Given the description of an element on the screen output the (x, y) to click on. 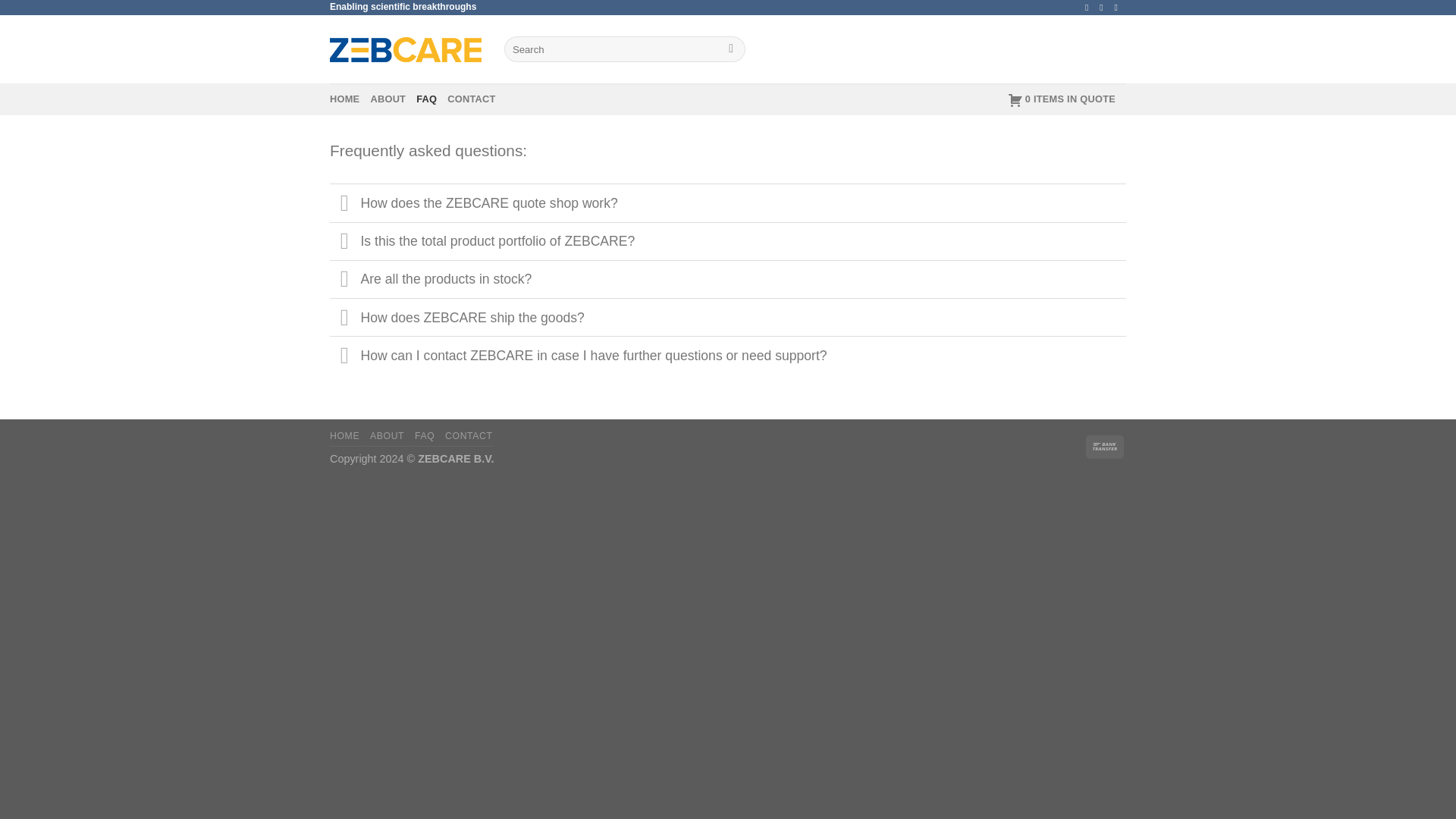
0 ITEMS IN QUOTE (1061, 99)
How does ZEBCARE ship the goods? (727, 316)
FAQ (423, 435)
Search (731, 49)
ABOUT (387, 99)
ABOUT (386, 435)
HOME (344, 99)
How does the ZEBCARE quote shop work? (727, 202)
HOME (344, 435)
Are all the products in stock? (727, 279)
CONTACT (469, 435)
ZEBCARE - webshop of ZEBCARE (405, 48)
Is this the total product portfolio of ZEBCARE? (727, 240)
CONTACT (470, 99)
